Given the description of an element on the screen output the (x, y) to click on. 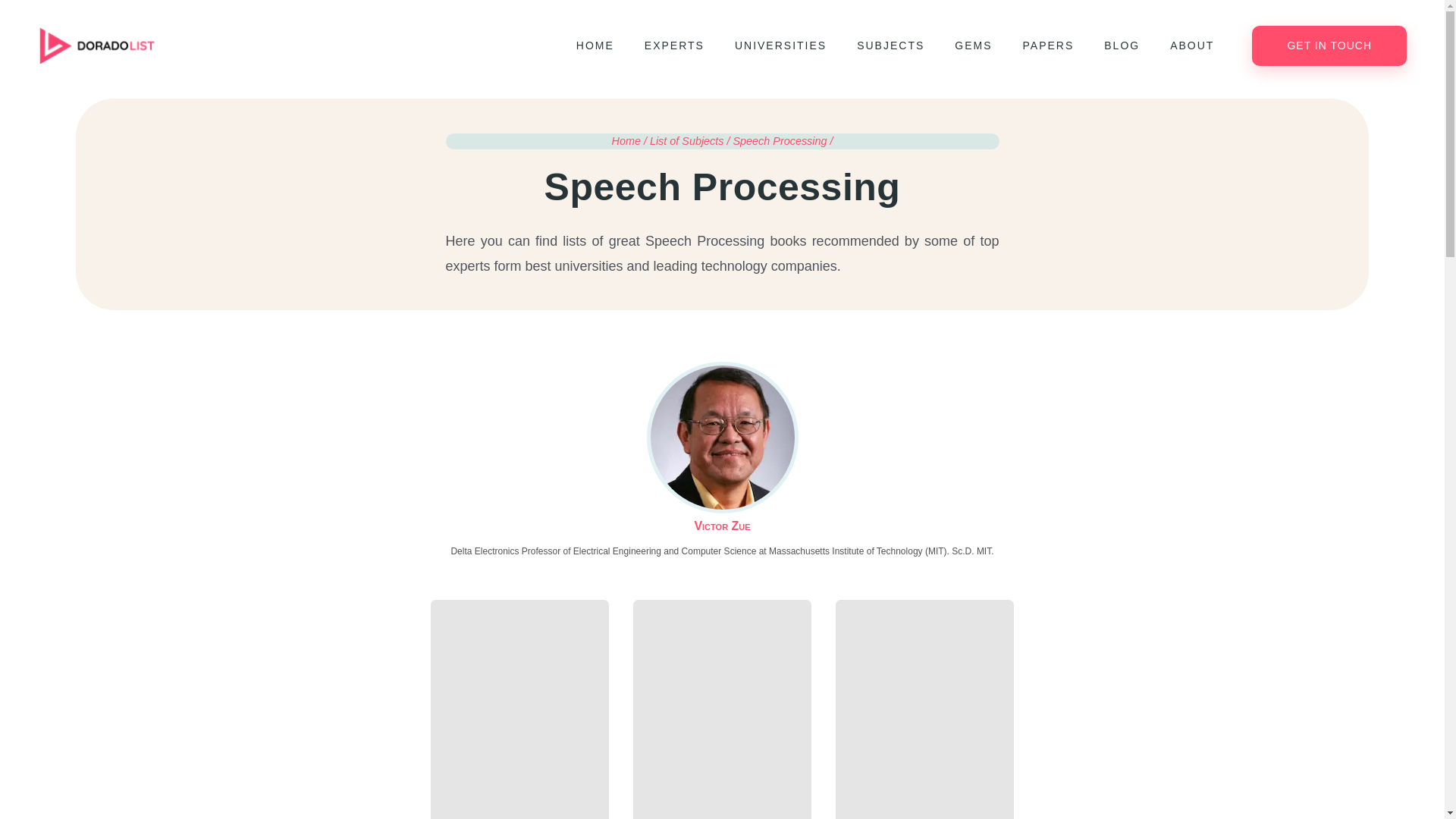
GEMS (973, 45)
Victor Zue (721, 482)
PAPERS (1048, 45)
GET IN TOUCH (1329, 45)
SUBJECTS (890, 45)
ABOUT (1191, 45)
BLOG (1121, 45)
EXPERTS (673, 45)
UNIVERSITIES (780, 45)
HOME (594, 45)
